Given the description of an element on the screen output the (x, y) to click on. 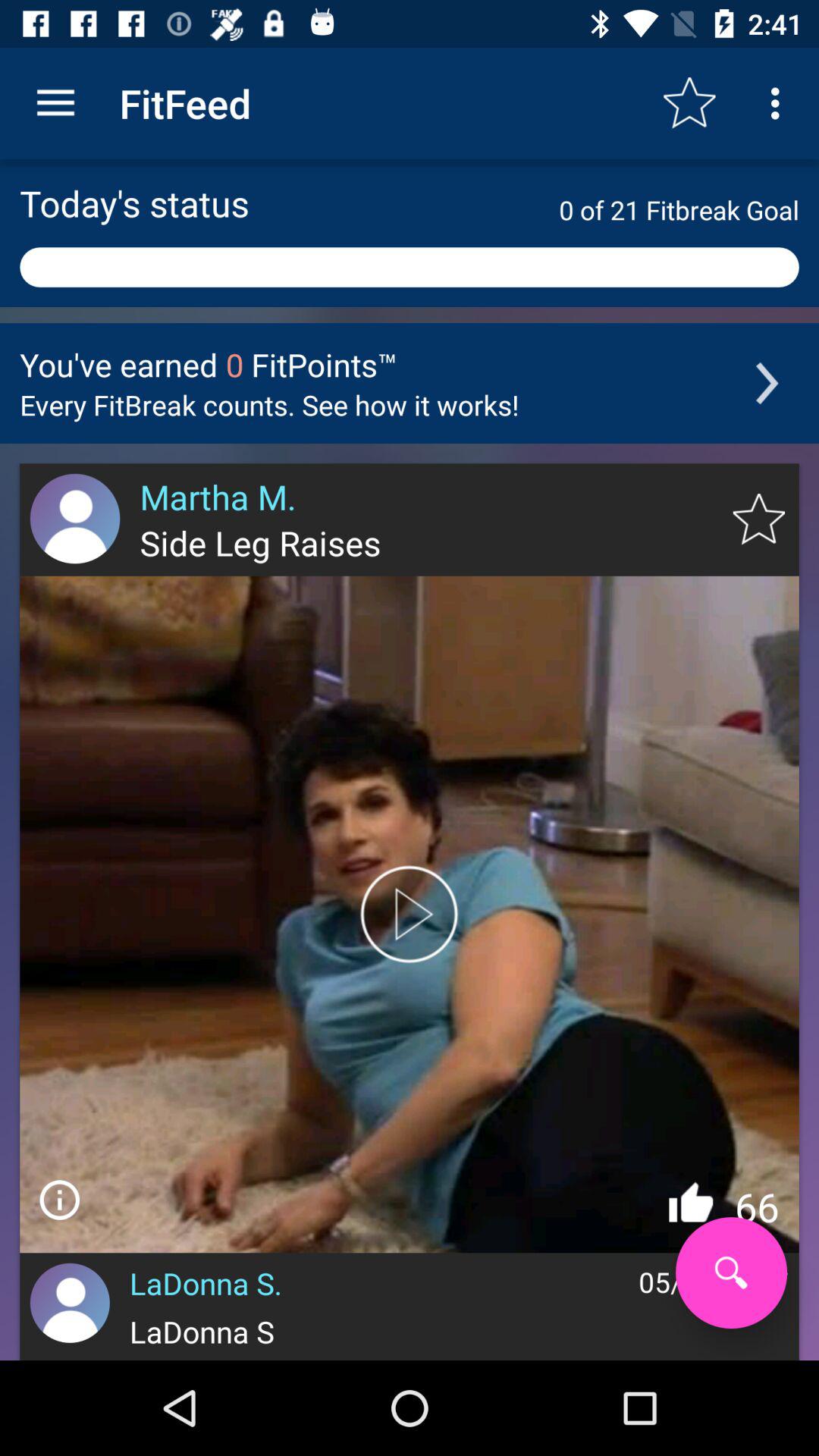
find info about the person (59, 1199)
